Given the description of an element on the screen output the (x, y) to click on. 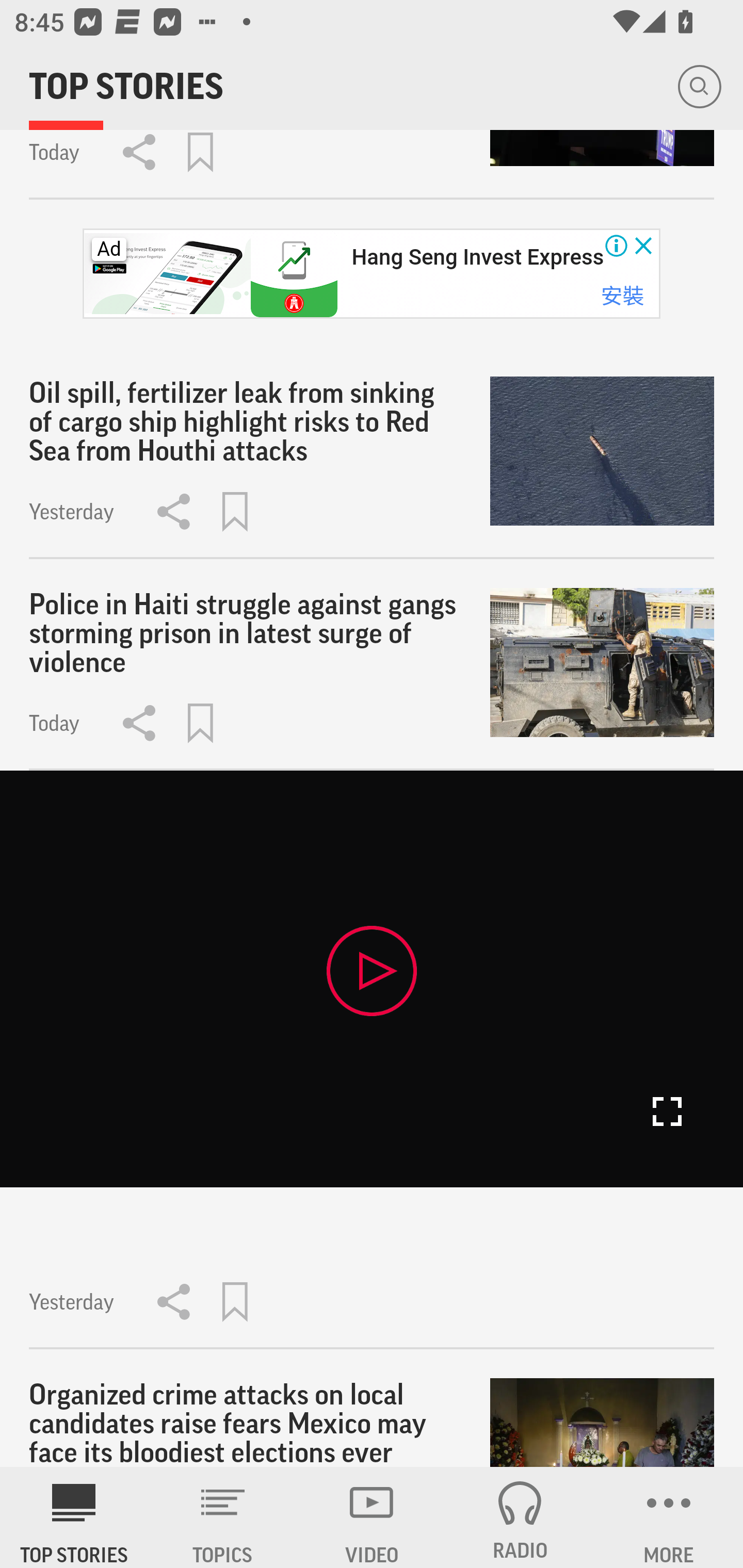
Hang Seng Invest Express (476, 257)
安裝 (621, 295)
toggle controls Play Fullscreen Yesterday (371, 1059)
toggle controls Play Fullscreen (371, 977)
Play (371, 970)
Fullscreen (666, 1111)
AP News TOP STORIES (74, 1517)
TOPICS (222, 1517)
VIDEO (371, 1517)
RADIO (519, 1517)
MORE (668, 1517)
